Given the description of an element on the screen output the (x, y) to click on. 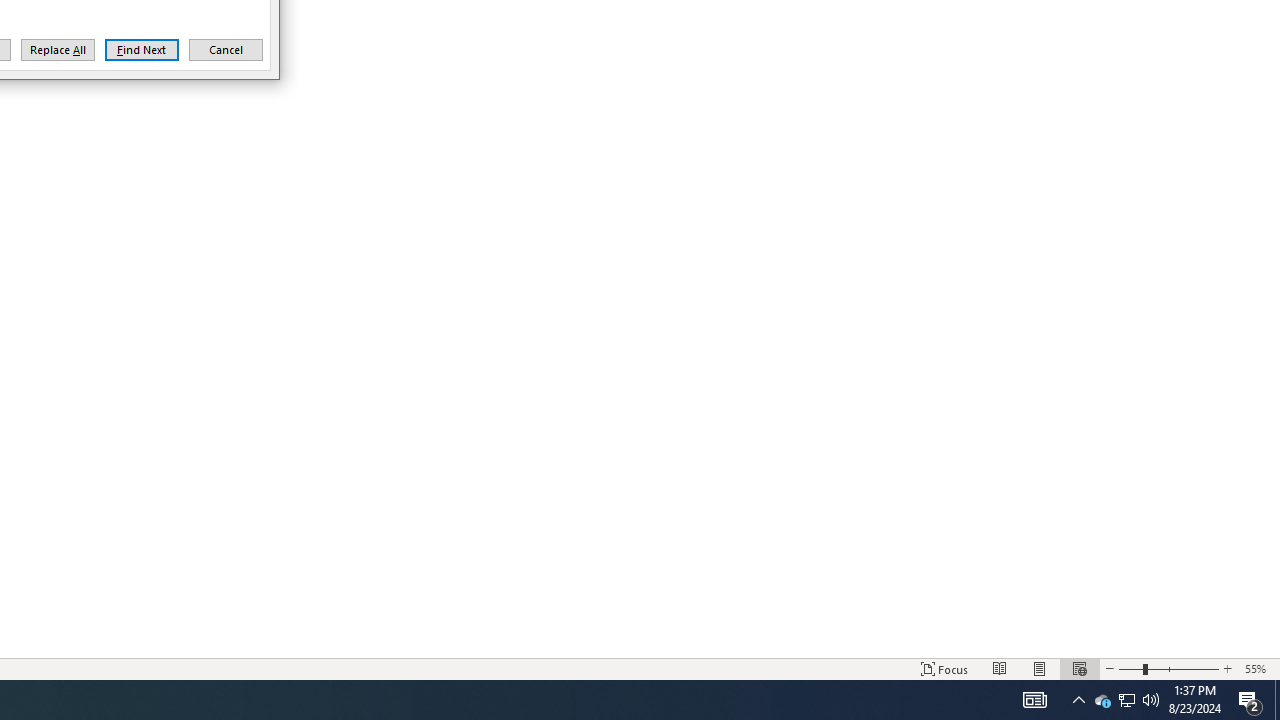
Zoom 55% (1258, 668)
Show desktop (1277, 699)
Find Next (141, 49)
Action Center, 2 new notifications (1250, 699)
Notification Chevron (1078, 699)
AutomationID: 4105 (1034, 699)
Replace All (58, 49)
User Promoted Notification Area (1126, 699)
Zoom (1126, 699)
Q2790: 100% (1168, 668)
